Given the description of an element on the screen output the (x, y) to click on. 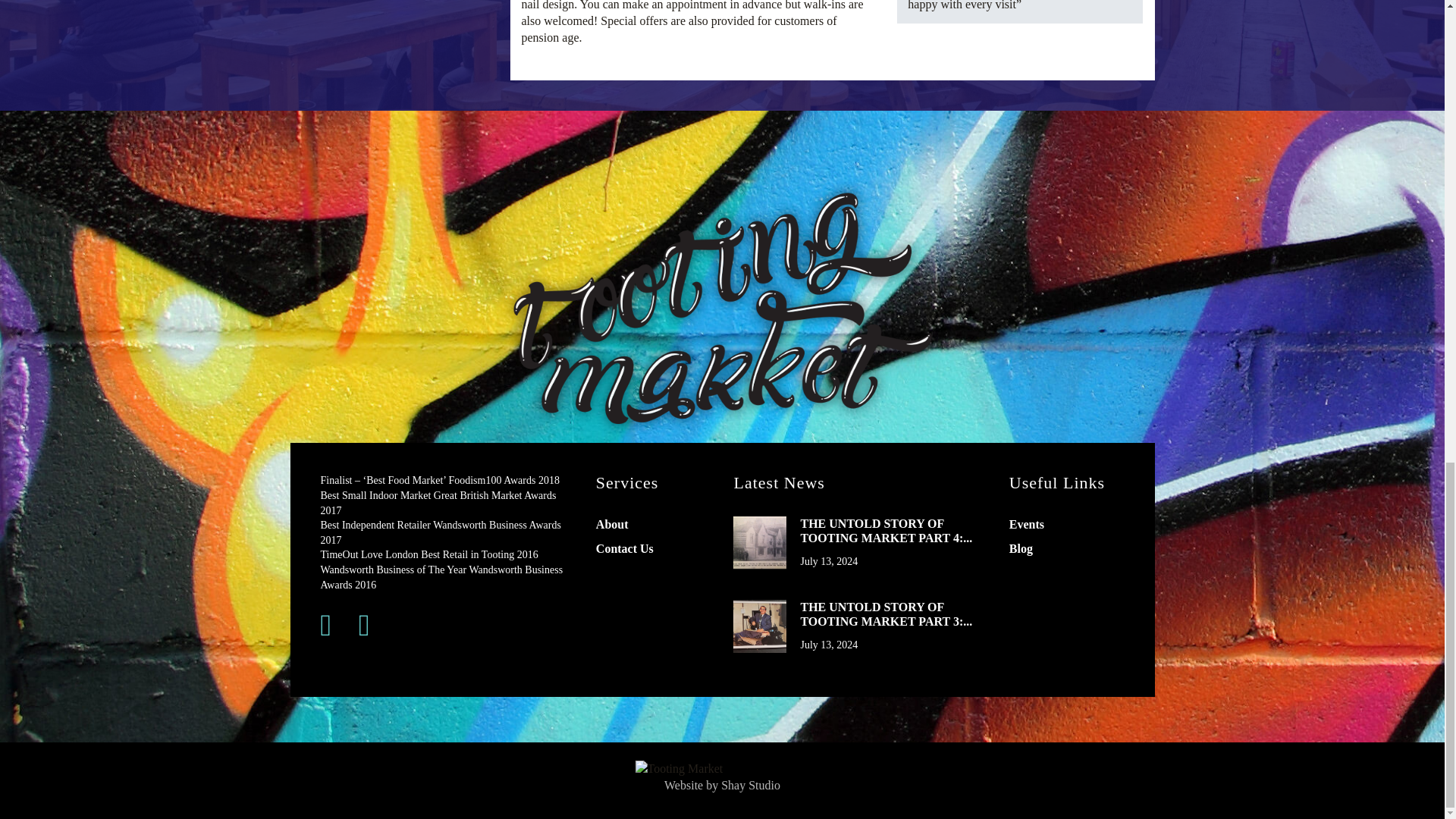
THE UNTOLD STORY OF TOOTING MARKET PART 3:... (892, 613)
About (611, 523)
Read More (759, 542)
Events (1026, 523)
Contact Us (624, 548)
Blog (1020, 548)
Read More (759, 625)
Shay Studio (750, 784)
THE UNTOLD STORY OF TOOTING MARKET PART 4:... (892, 530)
